Given the description of an element on the screen output the (x, y) to click on. 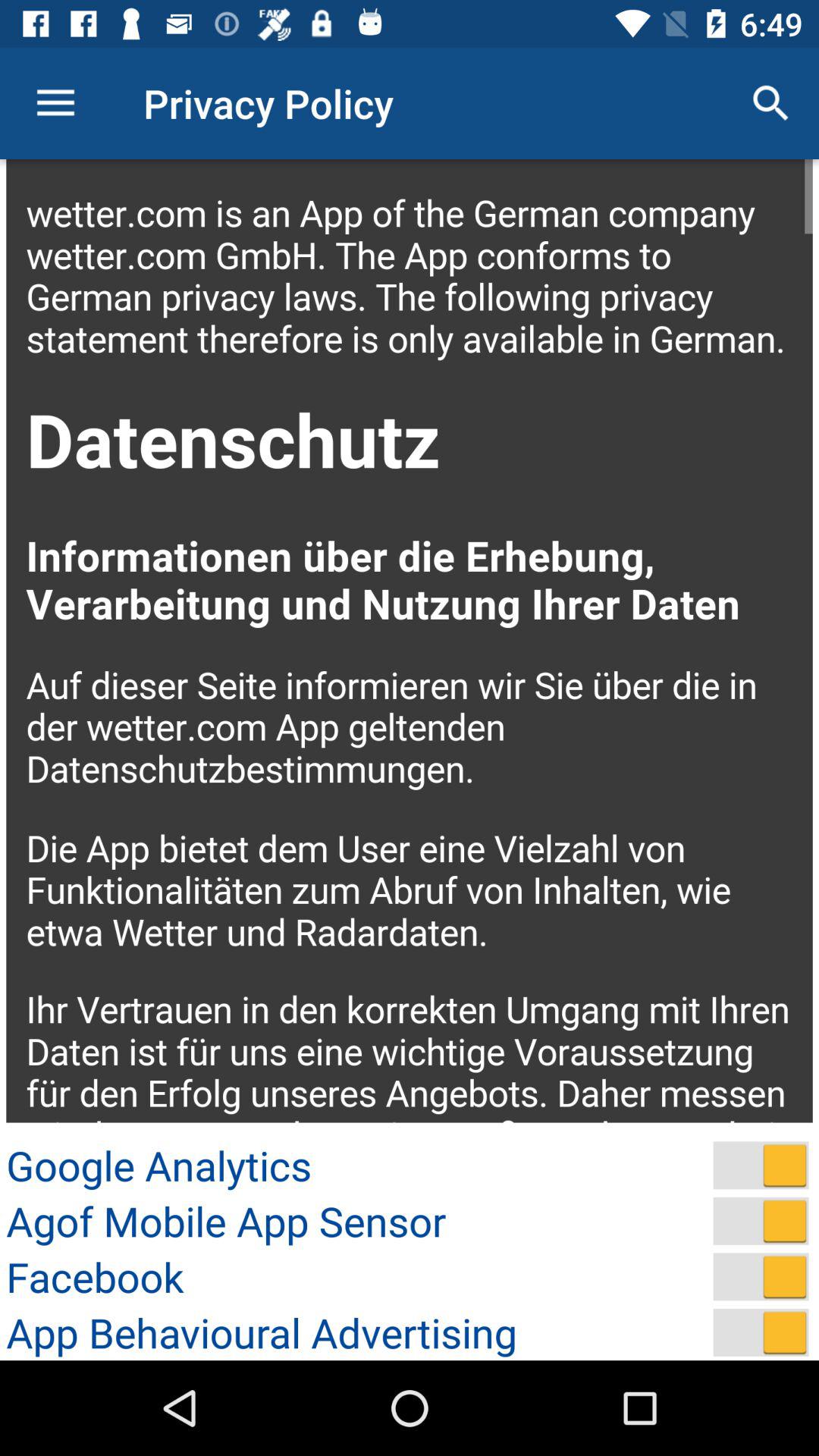
toggle app behavioral advertising settings (760, 1332)
